Given the description of an element on the screen output the (x, y) to click on. 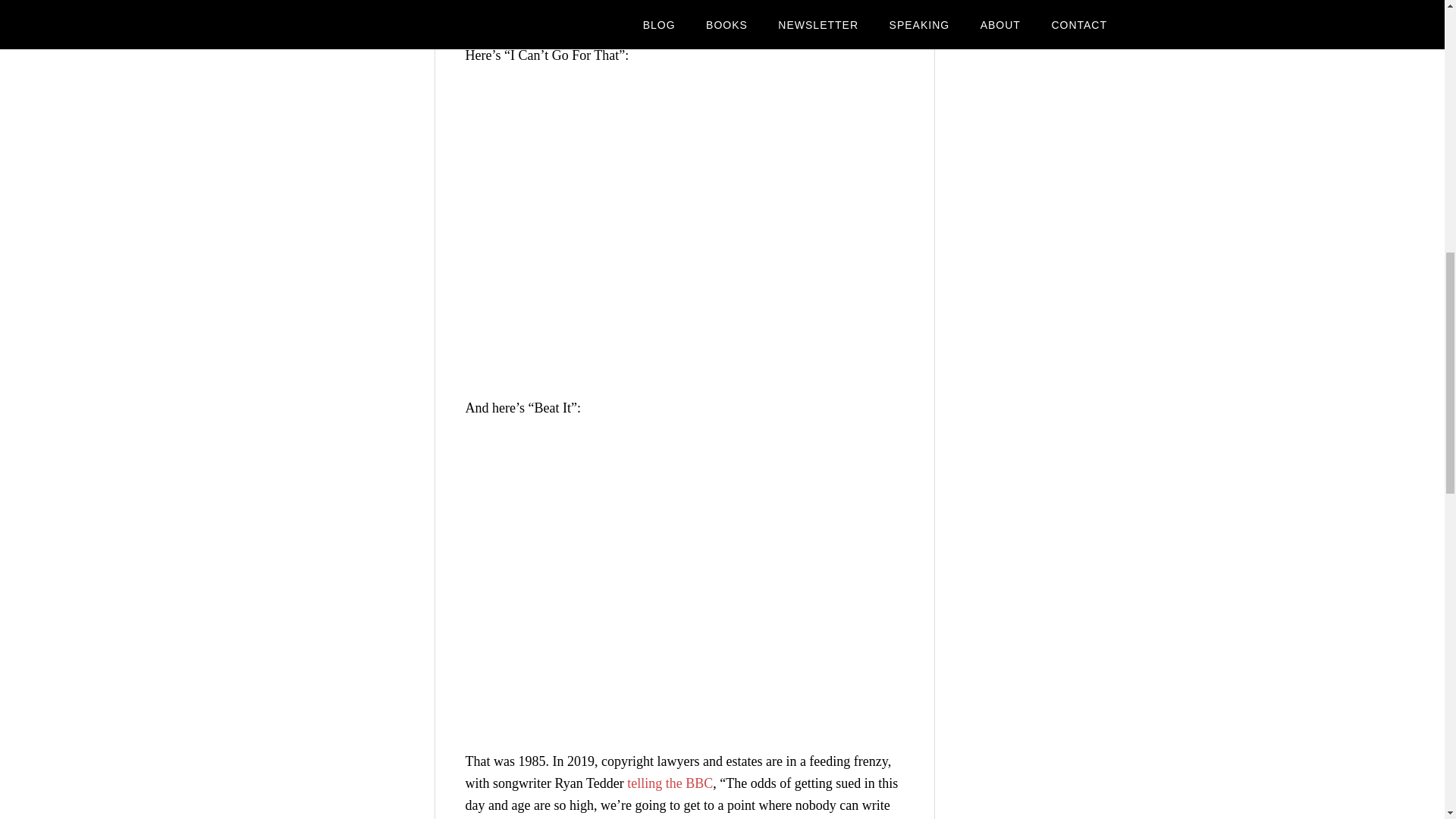
Pizza and a movie night logs (1065, 2)
Summer mailbag (1036, 31)
telling the BBC (670, 783)
